Given the description of an element on the screen output the (x, y) to click on. 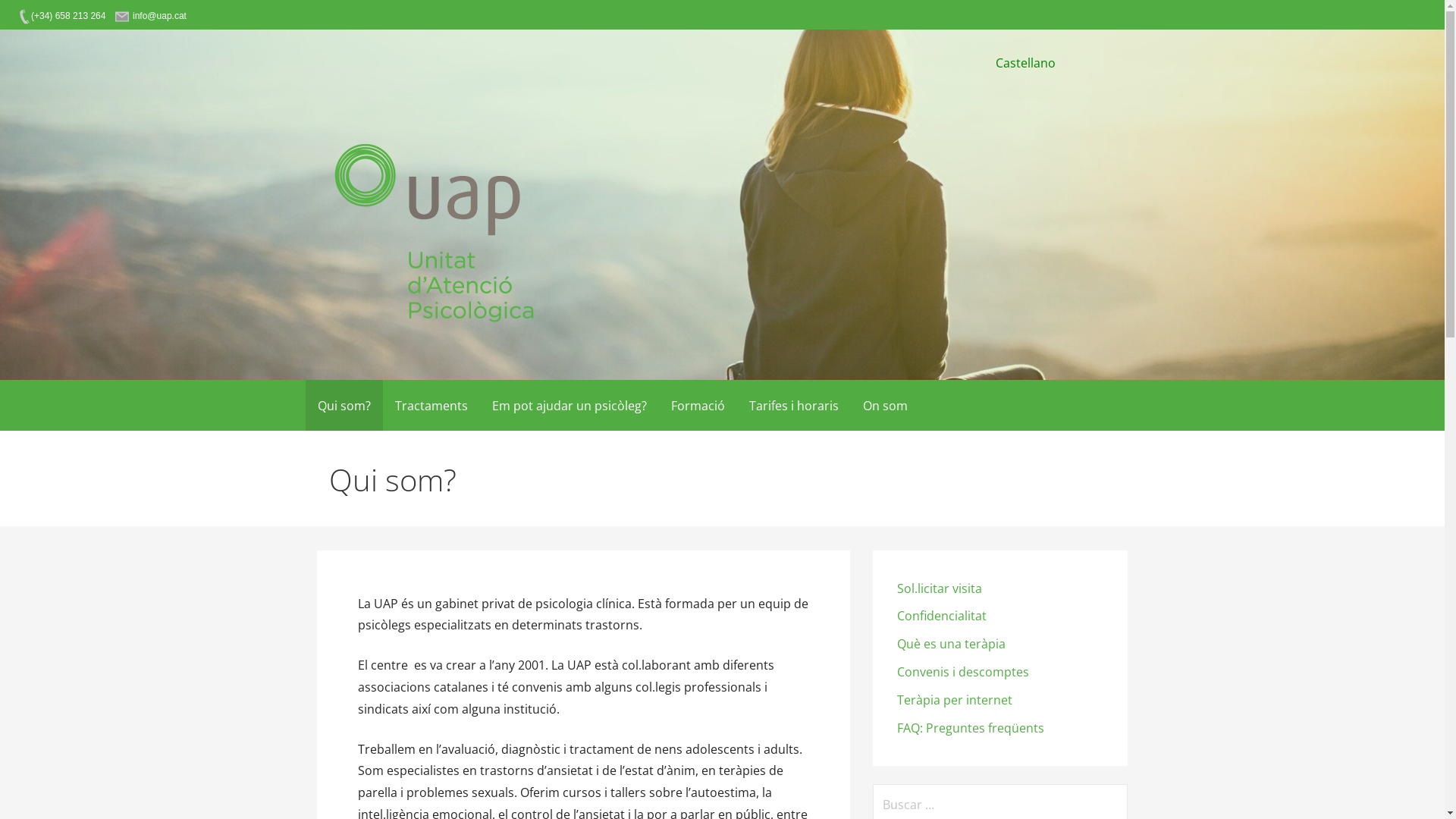
info@uap.cat Element type: text (151, 15)
Confidencialitat Element type: text (941, 615)
Tarifes i horaris Element type: text (793, 404)
UAP Element type: text (352, 348)
Castellano Element type: text (1024, 62)
Qui som? Element type: text (343, 404)
On som Element type: text (884, 404)
Sol.licitar visita Element type: text (939, 588)
(+34) 658 213 264 Element type: text (60, 15)
Tractaments Element type: text (430, 404)
Convenis i descomptes Element type: text (963, 671)
Buscar Element type: text (31, 15)
